Given the description of an element on the screen output the (x, y) to click on. 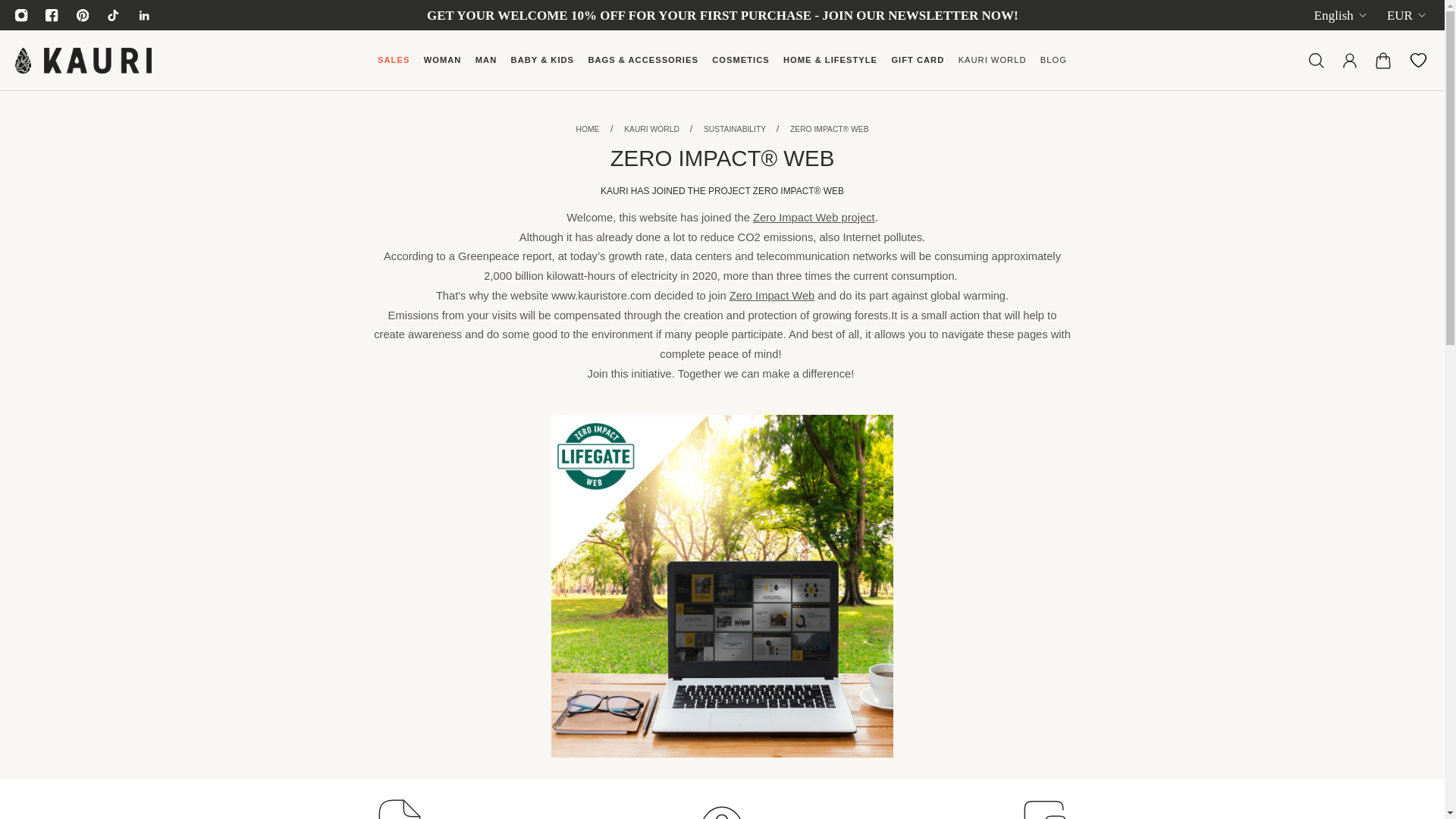
SALES (393, 67)
HOME (586, 129)
WOMAN (442, 67)
SUSTAINABILITY (735, 129)
BLOG (1053, 67)
Zero Impact Web project (813, 217)
KAURI WORLD (652, 129)
KAURI WORLD (991, 67)
MAN (485, 67)
Home (586, 129)
COSMETICS (740, 67)
GIFT CARD (916, 67)
Zero Impact Web (772, 295)
